Given the description of an element on the screen output the (x, y) to click on. 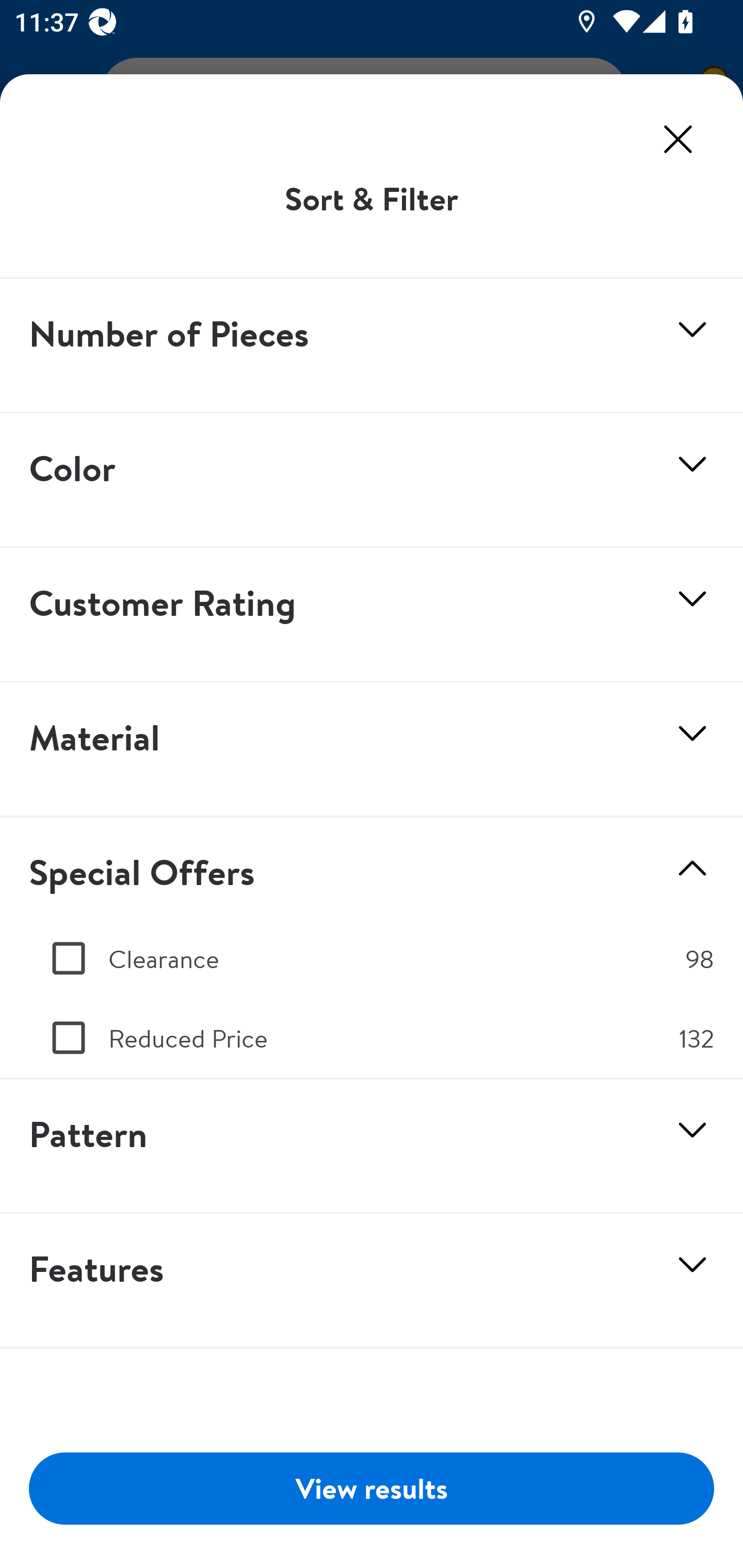
Close (677, 139)
Color Color Collapsed Collapsed (371, 480)
Material Material Collapsed Collapsed (371, 749)
Special Offers Special Offers Expanded Expanded (371, 867)
Pattern Pattern Collapsed Collapsed (371, 1145)
Features Features Collapsed Collapsed (371, 1280)
View results (371, 1487)
